Given the description of an element on the screen output the (x, y) to click on. 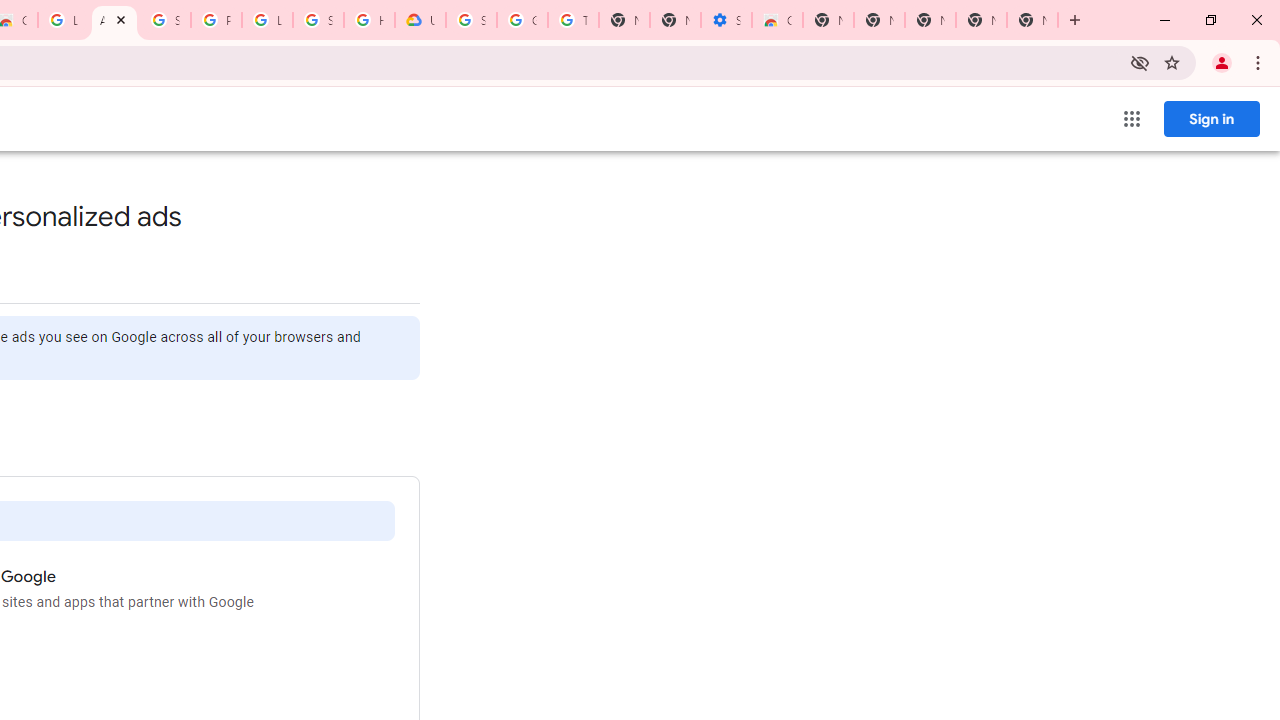
Ad Settings (113, 20)
Turn cookies on or off - Computer - Google Account Help (573, 20)
Chrome Web Store - Accessibility extensions (776, 20)
New Tab (1032, 20)
Google Account Help (521, 20)
Sign in - Google Accounts (318, 20)
Sign in - Google Accounts (470, 20)
